Given the description of an element on the screen output the (x, y) to click on. 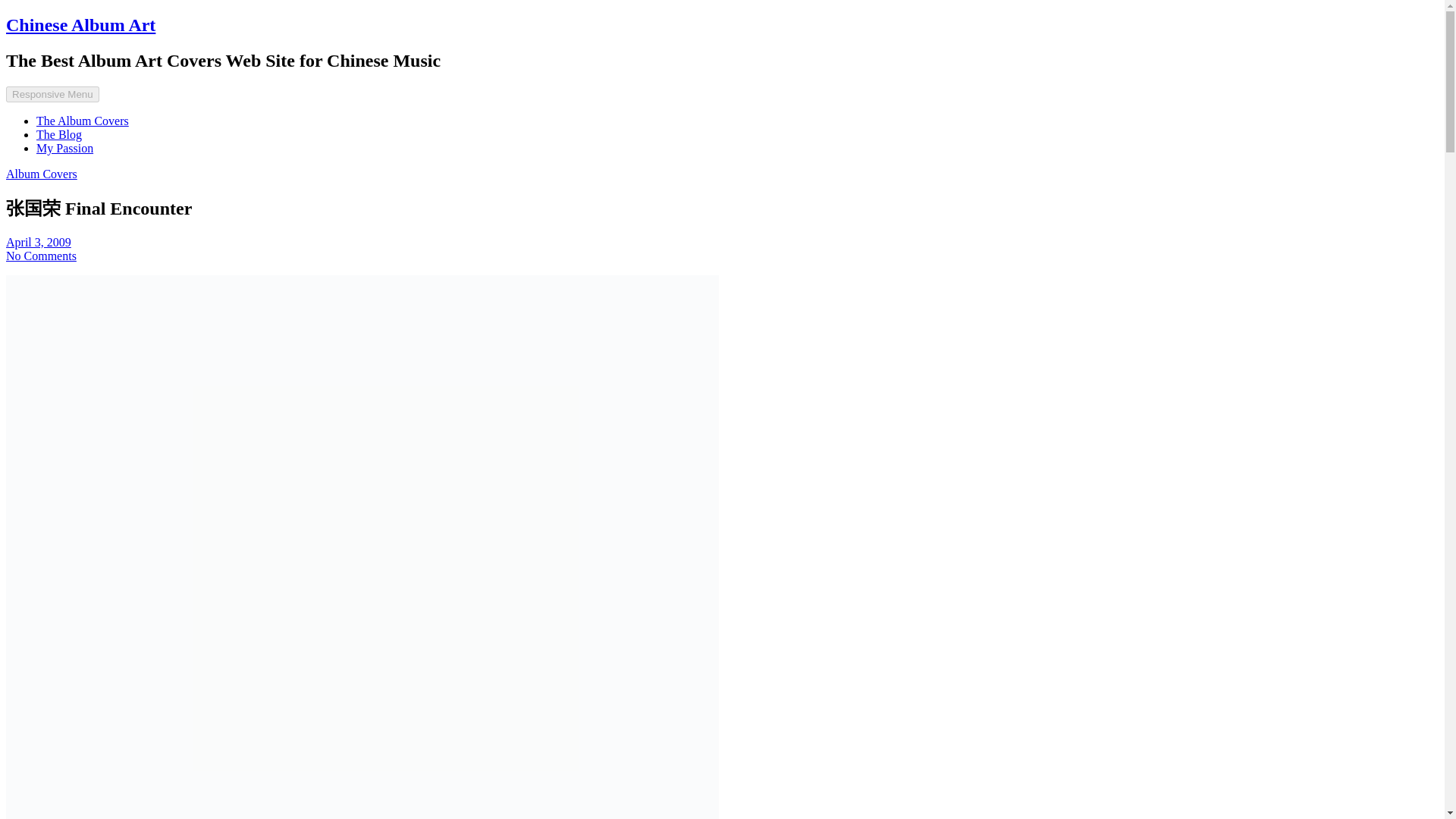
Responsive Menu (52, 94)
Album Covers (41, 173)
The Blog (58, 133)
Chinese Album Art (80, 25)
April 3, 2009 (38, 241)
My Passion (64, 147)
The Album Covers (82, 120)
No Comments (41, 255)
Chinese Album Art (80, 25)
9:29 pm (38, 241)
